Given the description of an element on the screen output the (x, y) to click on. 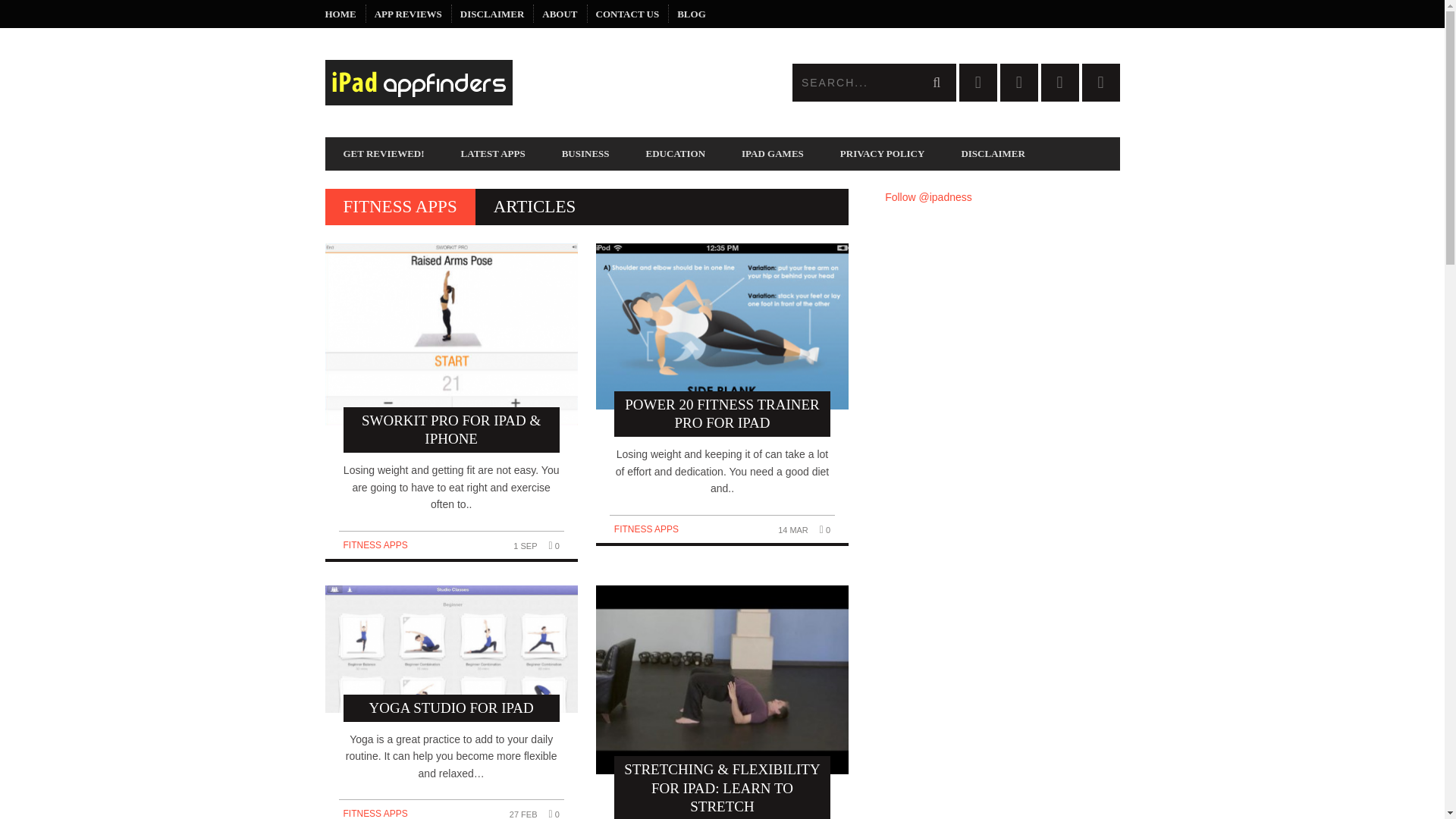
iPad App Finders (523, 82)
View all posts in Fitness Apps (374, 813)
HOME (340, 13)
View all posts in Fitness Apps (374, 544)
View all posts in Fitness Apps (646, 529)
